Given the description of an element on the screen output the (x, y) to click on. 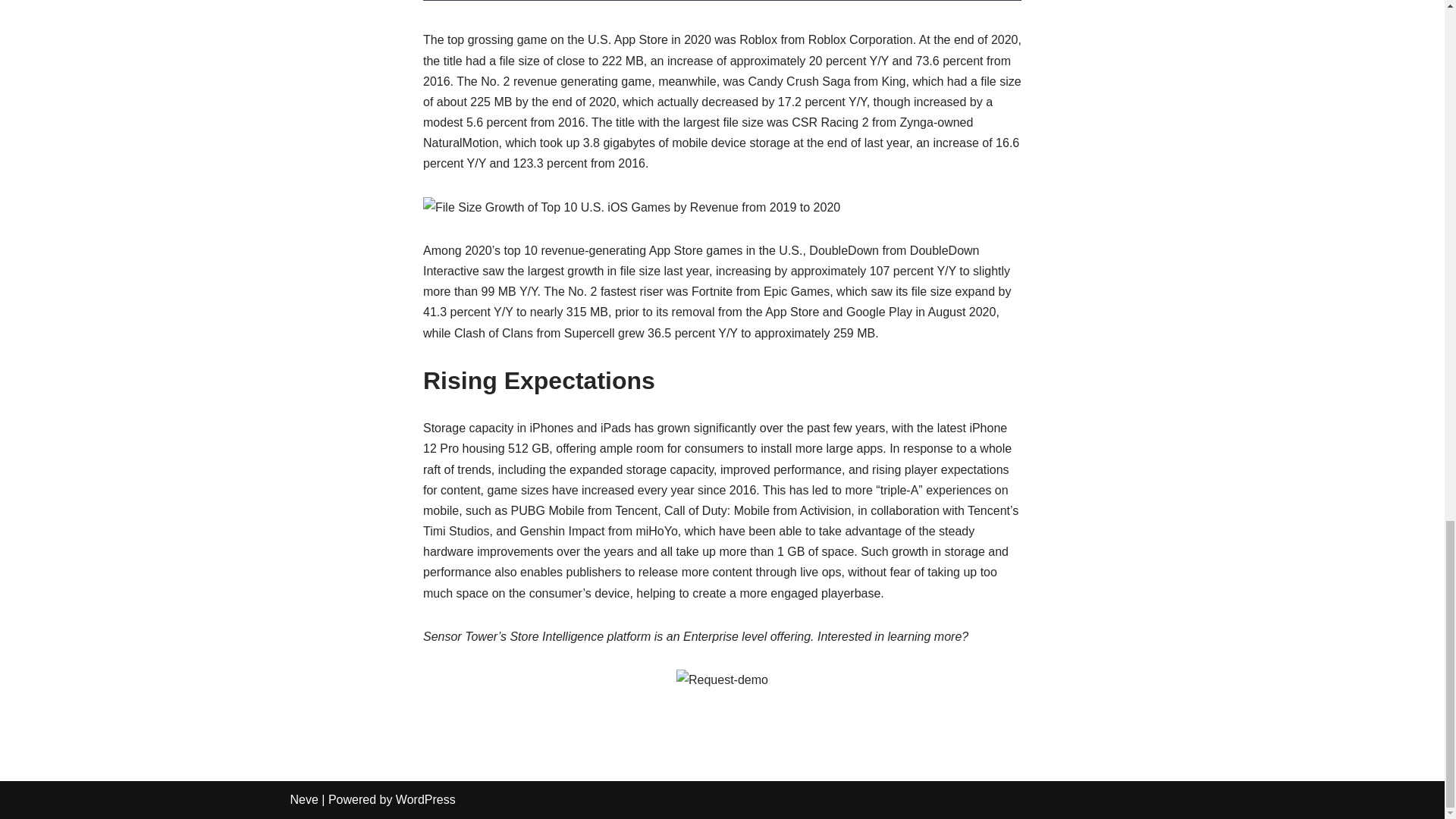
WordPress (425, 799)
Neve (303, 799)
